Given the description of an element on the screen output the (x, y) to click on. 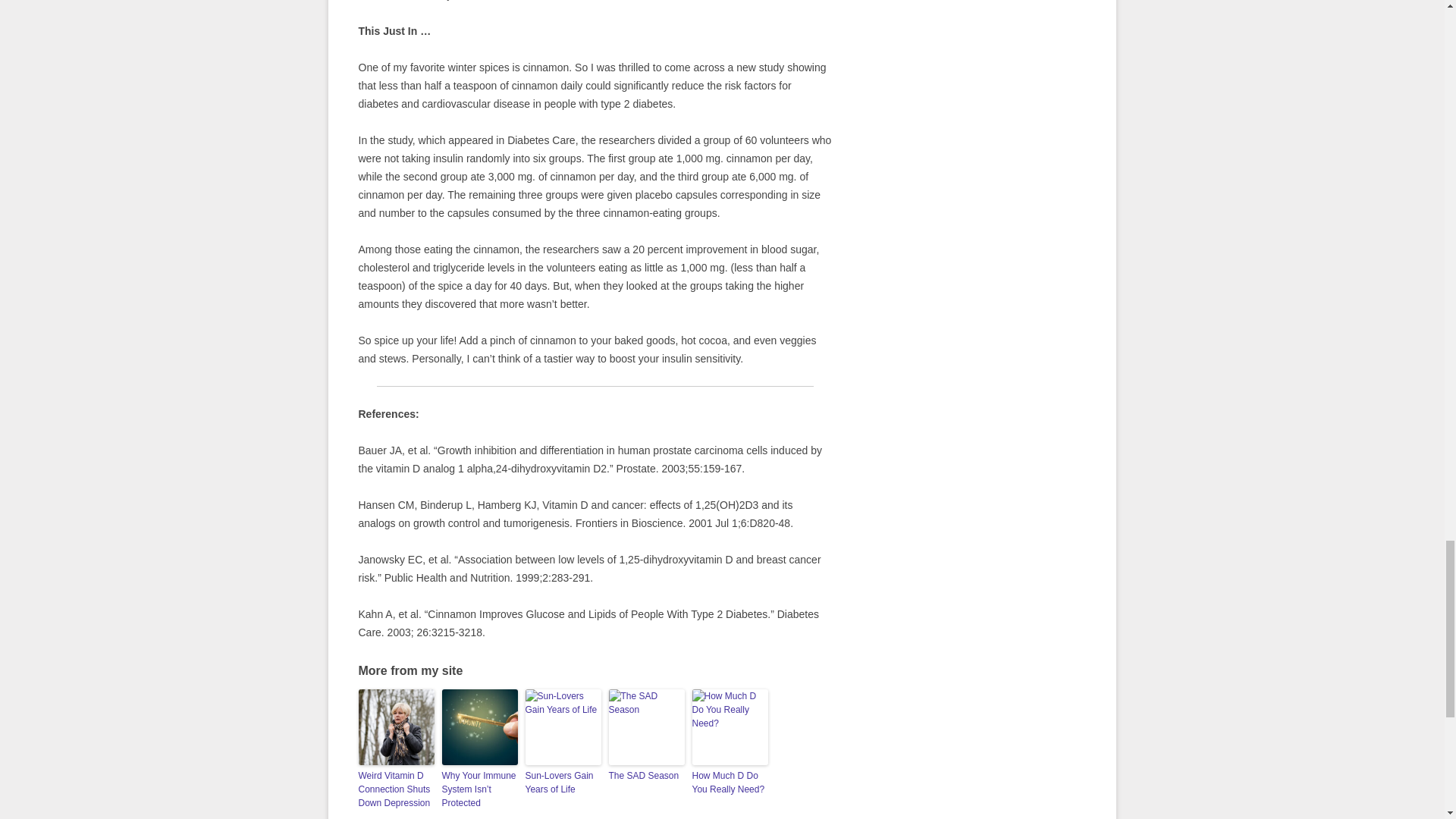
Weird Vitamin D Connection Shuts Down Depression (395, 789)
How Much D Do You Really Need? (729, 782)
The SAD Season (646, 775)
Sun-Lovers Gain Years of Life (561, 782)
